Given the description of an element on the screen output the (x, y) to click on. 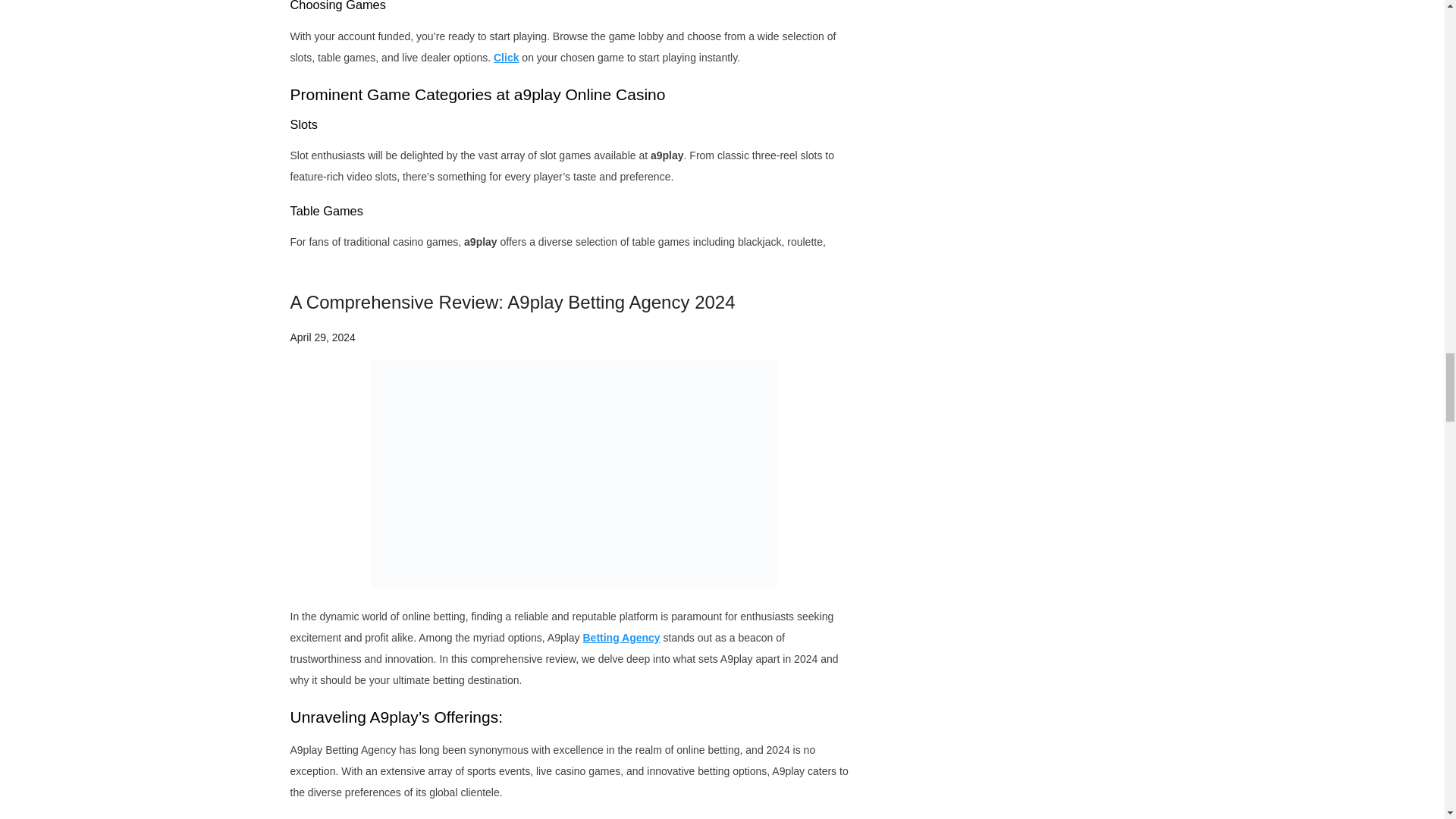
Betting Agency (620, 637)
A Comprehensive Review: A9play Betting Agency 2024 (512, 301)
Click (505, 57)
April 29, 2024 (322, 337)
